Given the description of an element on the screen output the (x, y) to click on. 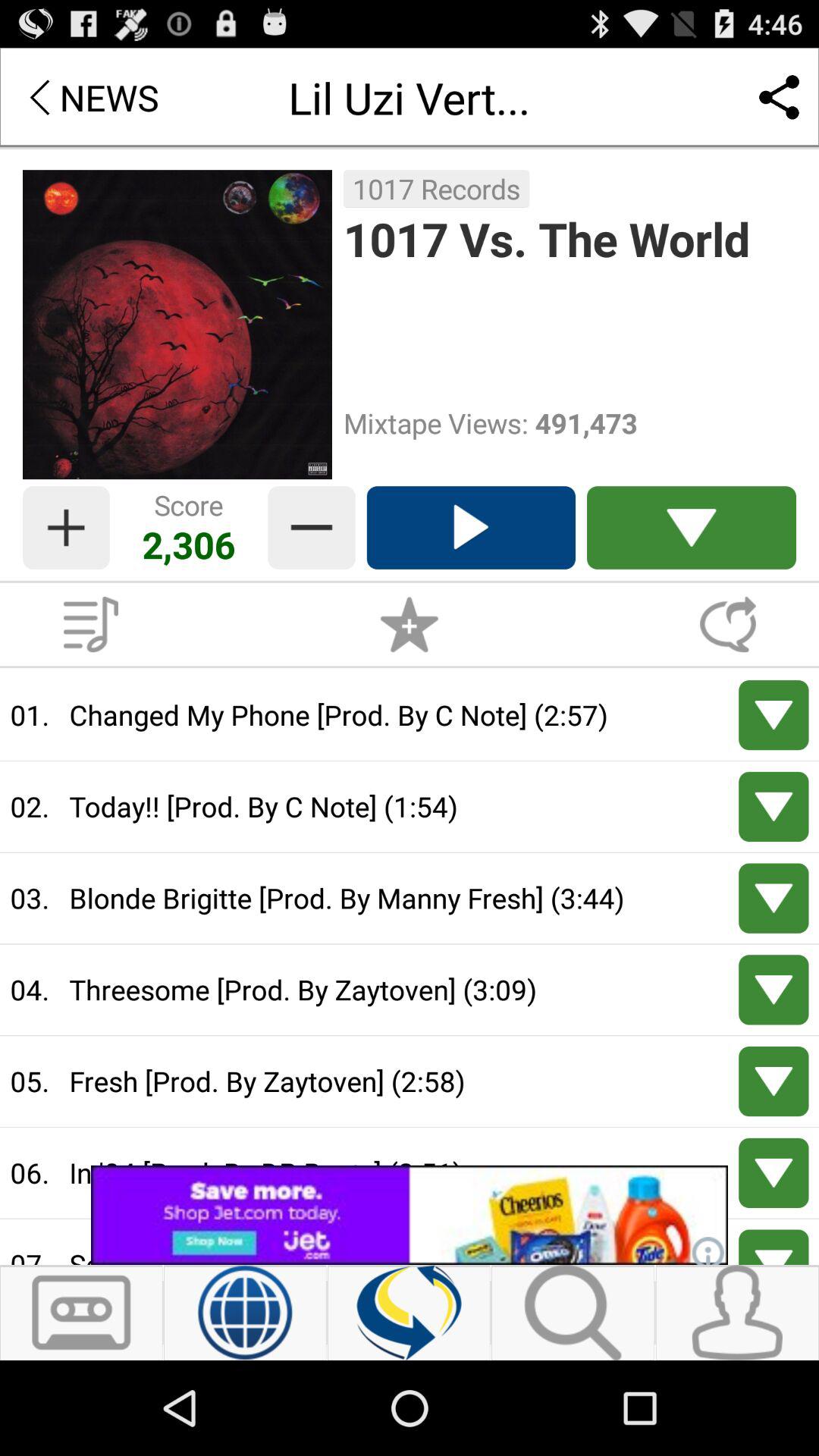
refresh (408, 1312)
